Given the description of an element on the screen output the (x, y) to click on. 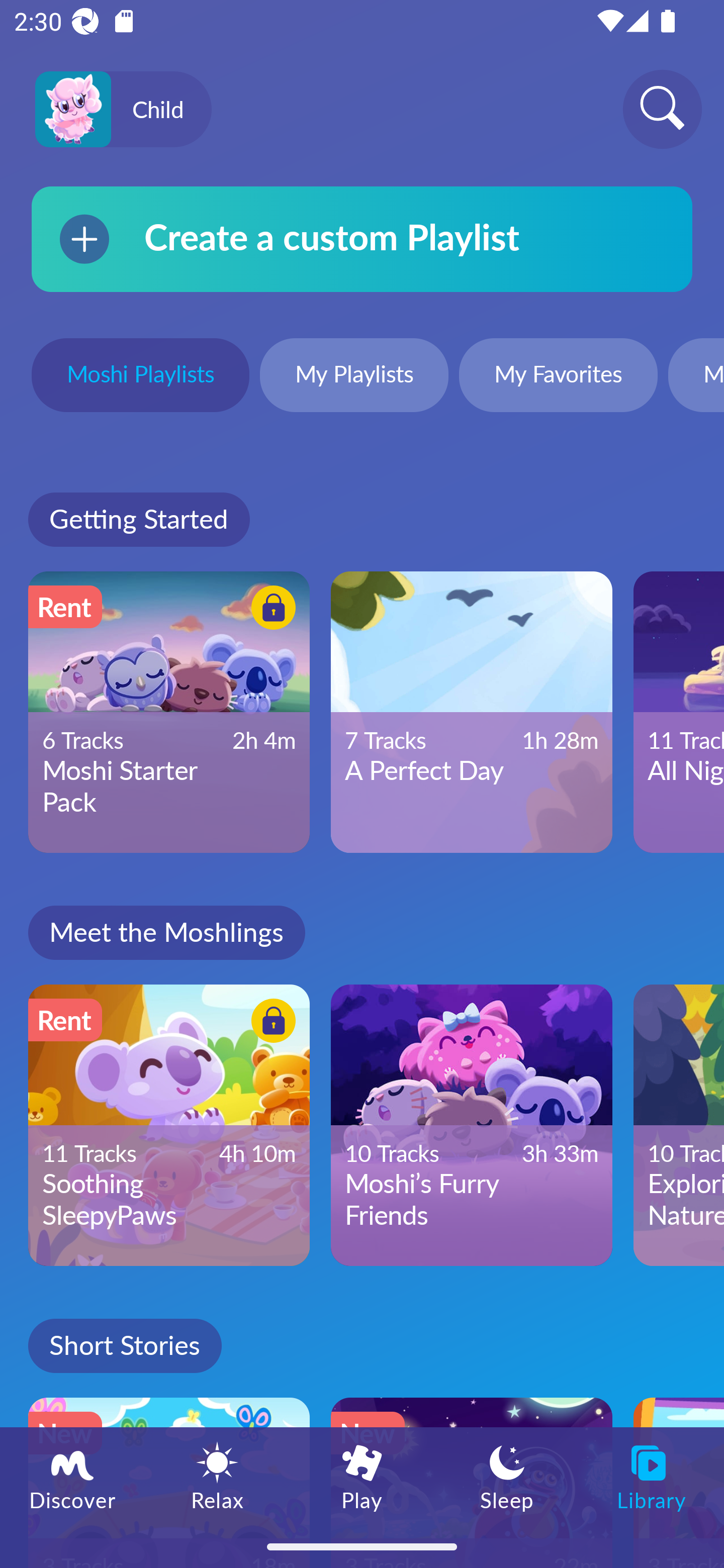
Profile icon Child (123, 109)
Create a custom Playlist (361, 238)
Moshi Playlists (140, 377)
My Playlists (353, 377)
My Favorites (558, 377)
Button (269, 609)
Featured Content 7 Tracks A Perfect Day 1h 28m (471, 711)
Button (269, 1023)
Discover (72, 1475)
Relax (216, 1475)
Play (361, 1475)
Sleep (506, 1475)
